Given the description of an element on the screen output the (x, y) to click on. 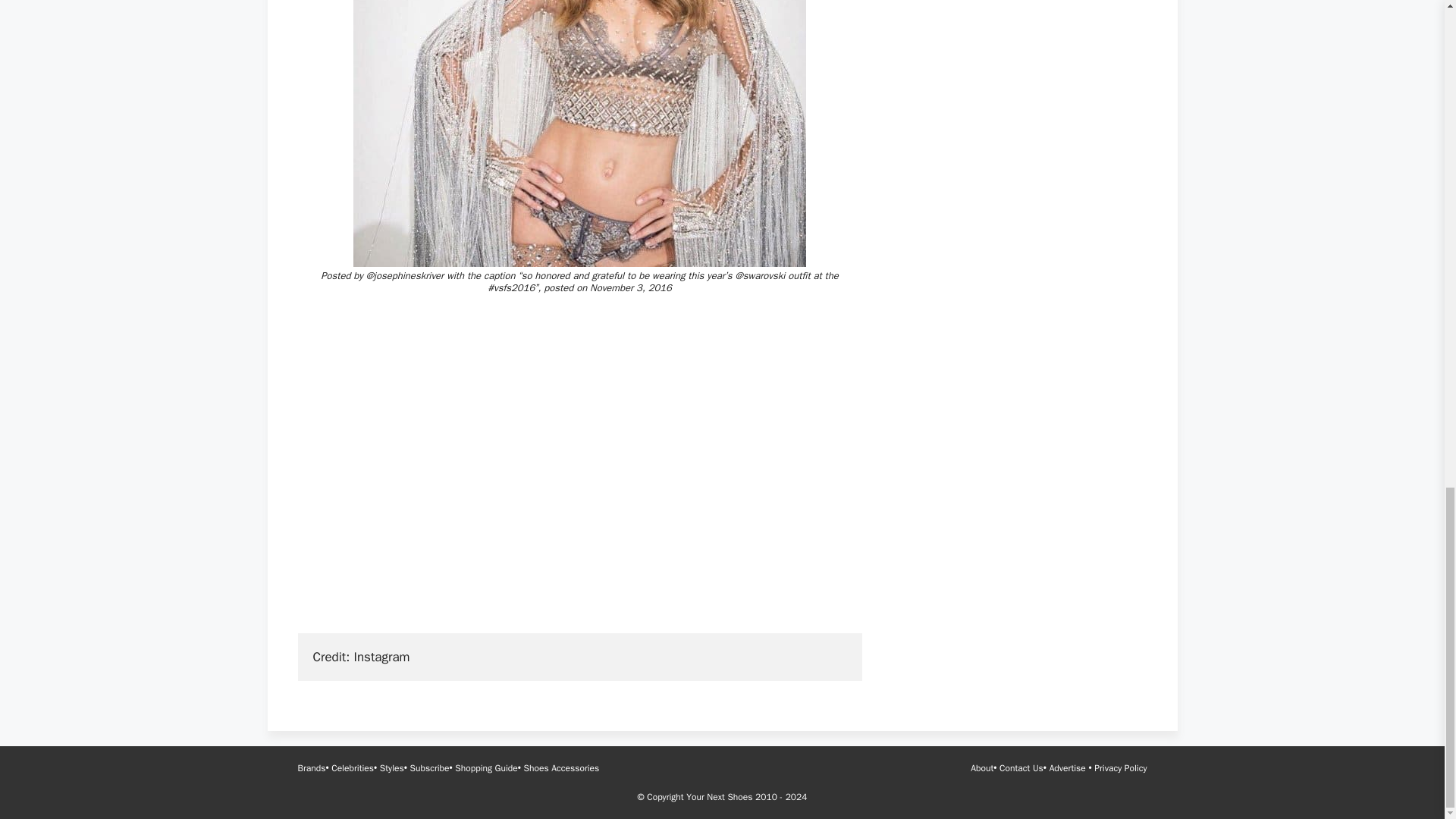
Scroll back to top (1406, 320)
